Given the description of an element on the screen output the (x, y) to click on. 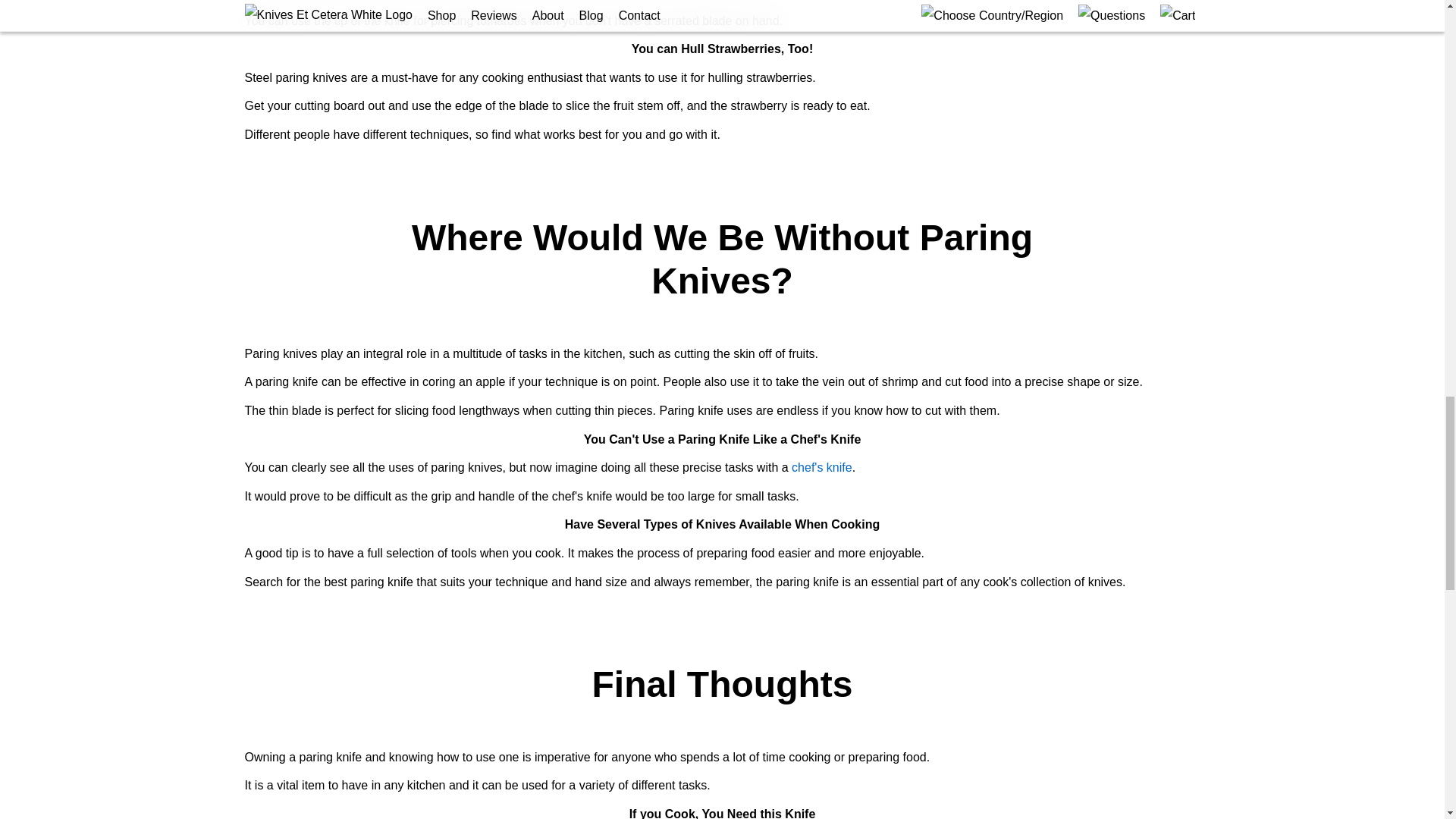
Chef's Knife (821, 467)
chef's knife (821, 467)
